Given the description of an element on the screen output the (x, y) to click on. 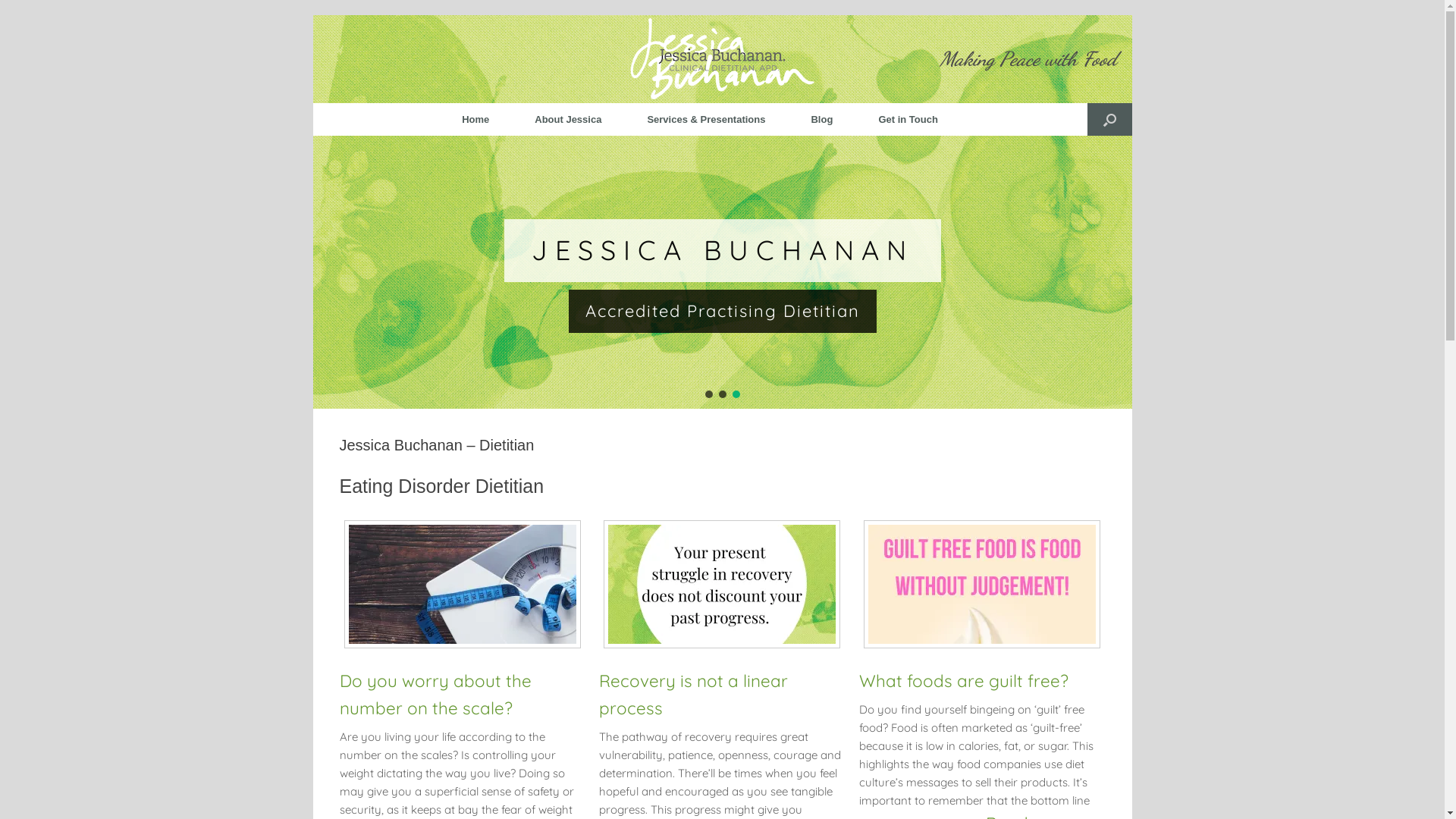
What foods are guilt free? Element type: text (963, 680)
Blog Element type: text (821, 119)
Recovery is not a linear process Element type: text (693, 693)
About Jessica Element type: text (567, 119)
Get in Touch Element type: text (907, 119)
Services & Presentations Element type: text (705, 119)
Do you worry about the number on the scale? Element type: text (435, 693)
Home Element type: text (475, 119)
Skip to content Element type: text (312, 14)
